Given the description of an element on the screen output the (x, y) to click on. 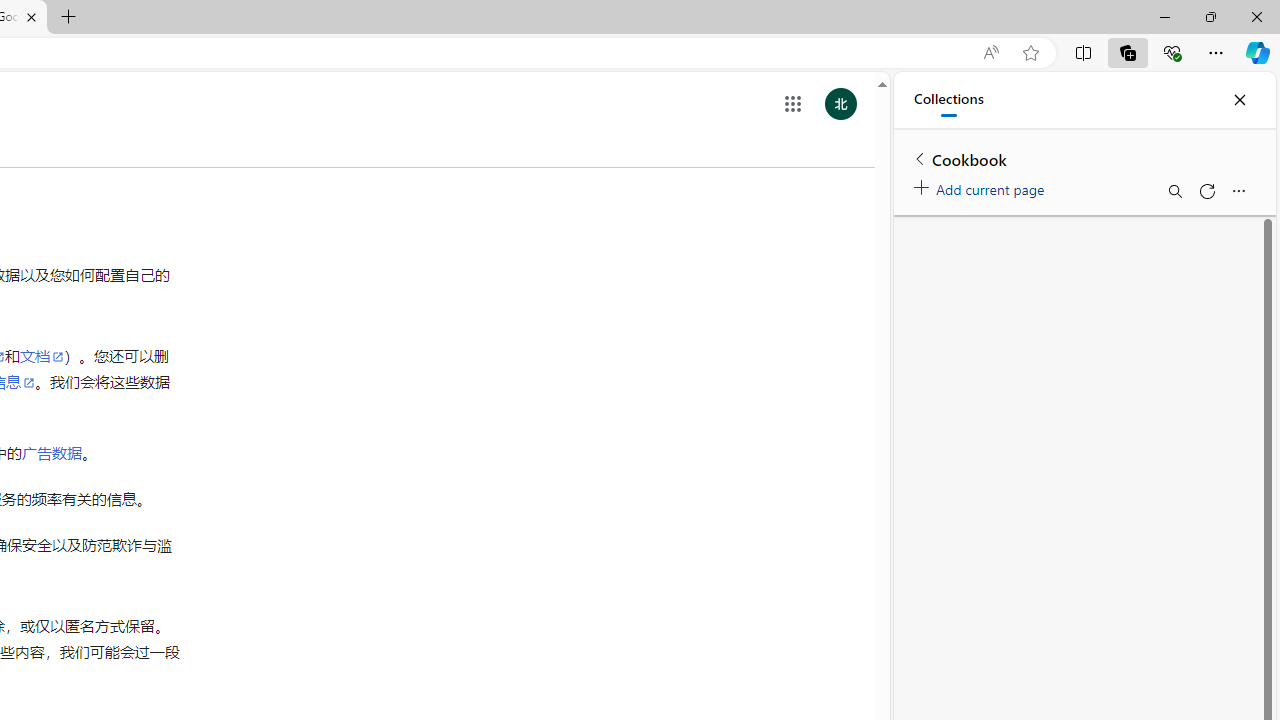
Back to list of collections (920, 158)
